Given the description of an element on the screen output the (x, y) to click on. 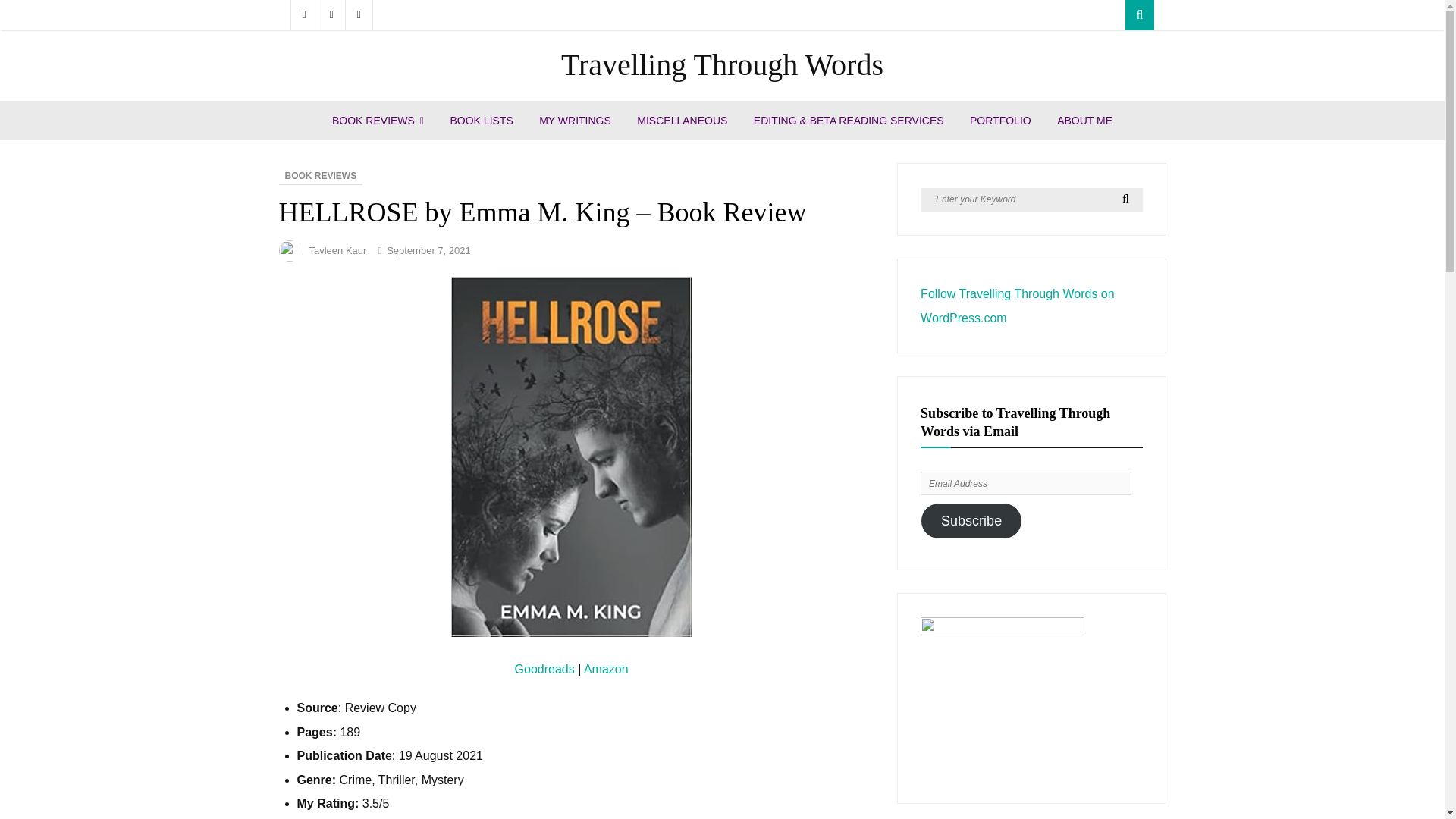
Amazon (605, 668)
MY WRITINGS (575, 120)
Goodreads  (546, 668)
BOOK REVIEWS (320, 176)
Twitter (332, 15)
BOOK REVIEWS (377, 120)
September 7, 2021 (428, 250)
ABOUT ME (1084, 120)
Facebook (303, 15)
Instagram (359, 15)
BOOK LISTS (481, 120)
PORTFOLIO (1000, 120)
Tavleen Kaur (337, 250)
MISCELLANEOUS (682, 120)
